Given the description of an element on the screen output the (x, y) to click on. 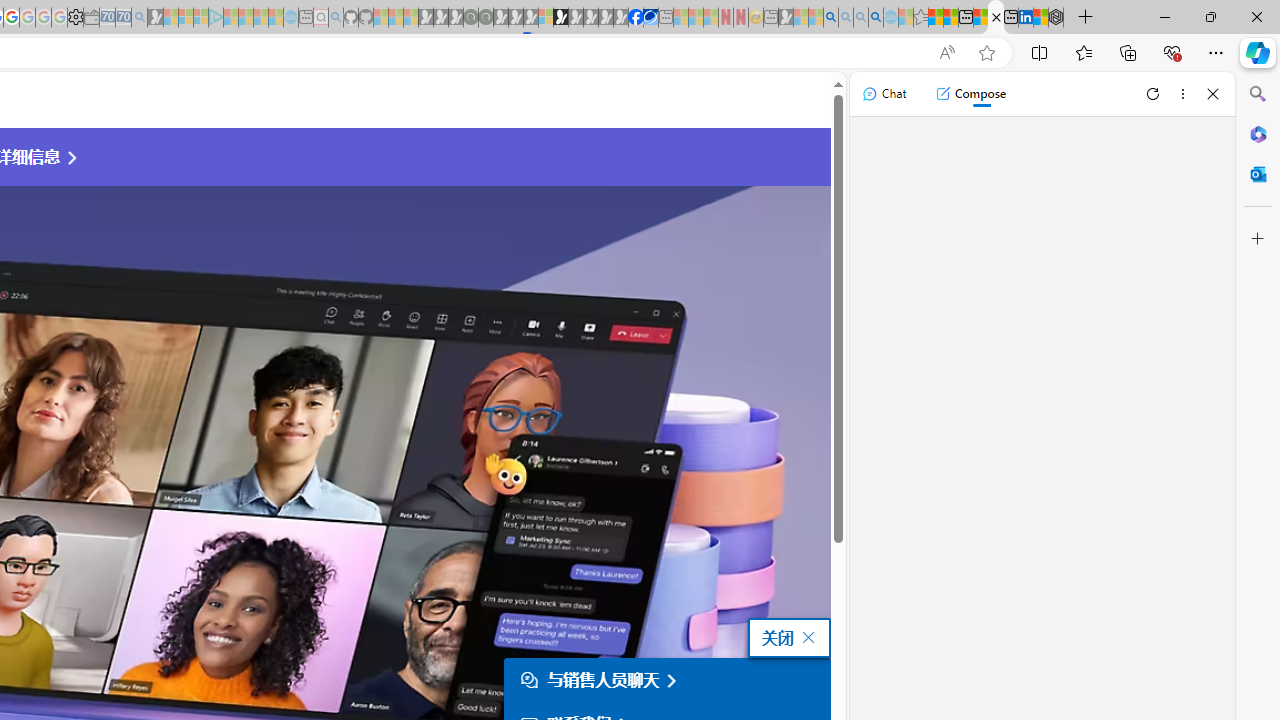
Home | Sky Blue Bikes - Sky Blue Bikes - Sleeping (291, 17)
Future Focus Report 2024 - Sleeping (485, 17)
